Given the description of an element on the screen output the (x, y) to click on. 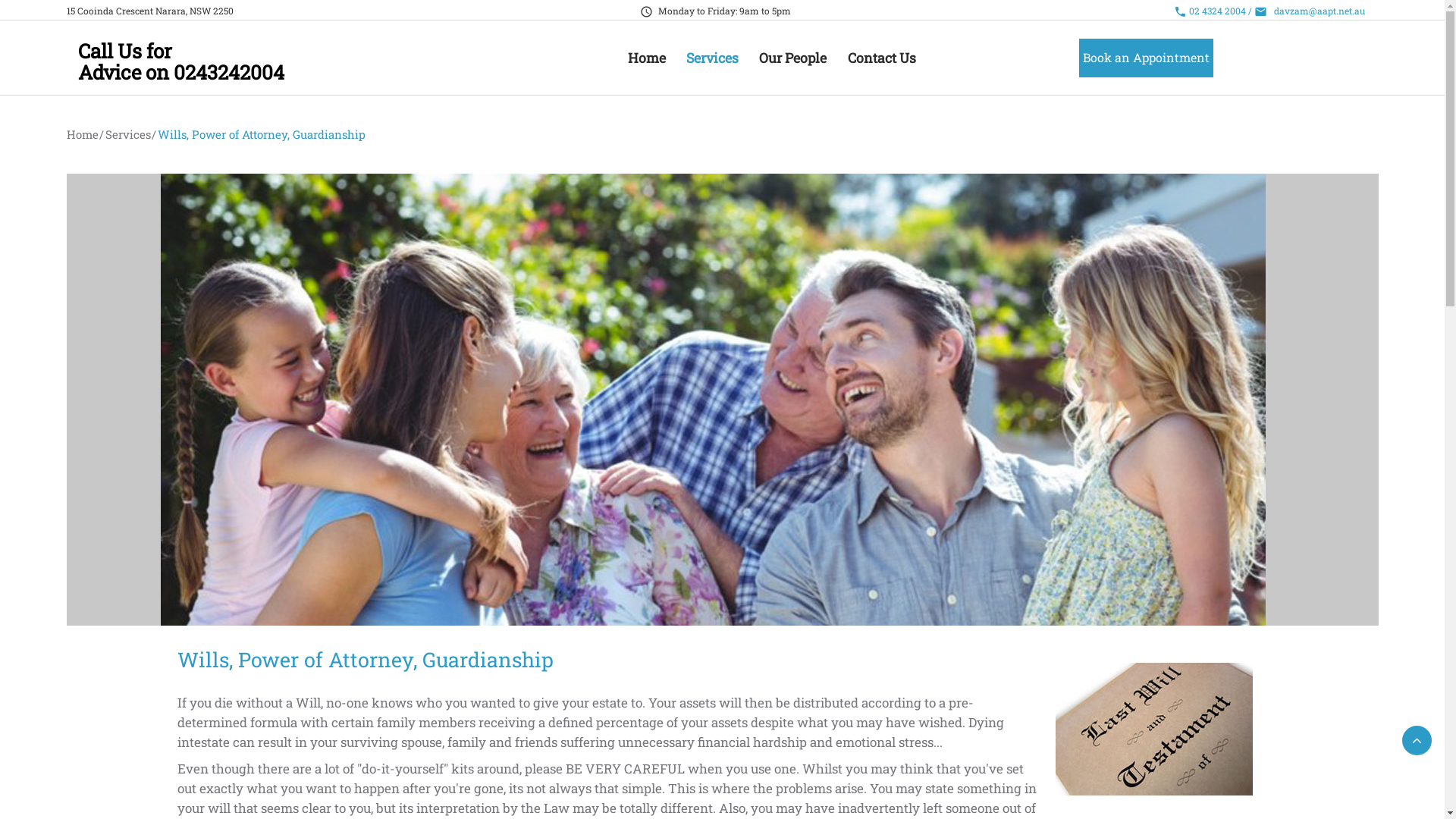
davzam@aapt.net.au Element type: text (1319, 10)
Call Us for
Advice on 0243242004 Element type: text (180, 60)
Services Element type: text (127, 133)
Our People Element type: text (792, 57)
Home Element type: text (82, 133)
Services Element type: text (712, 57)
Book an Appointment Element type: text (1146, 57)
Contact Us Element type: text (881, 57)
Home Element type: text (646, 57)
